Given the description of an element on the screen output the (x, y) to click on. 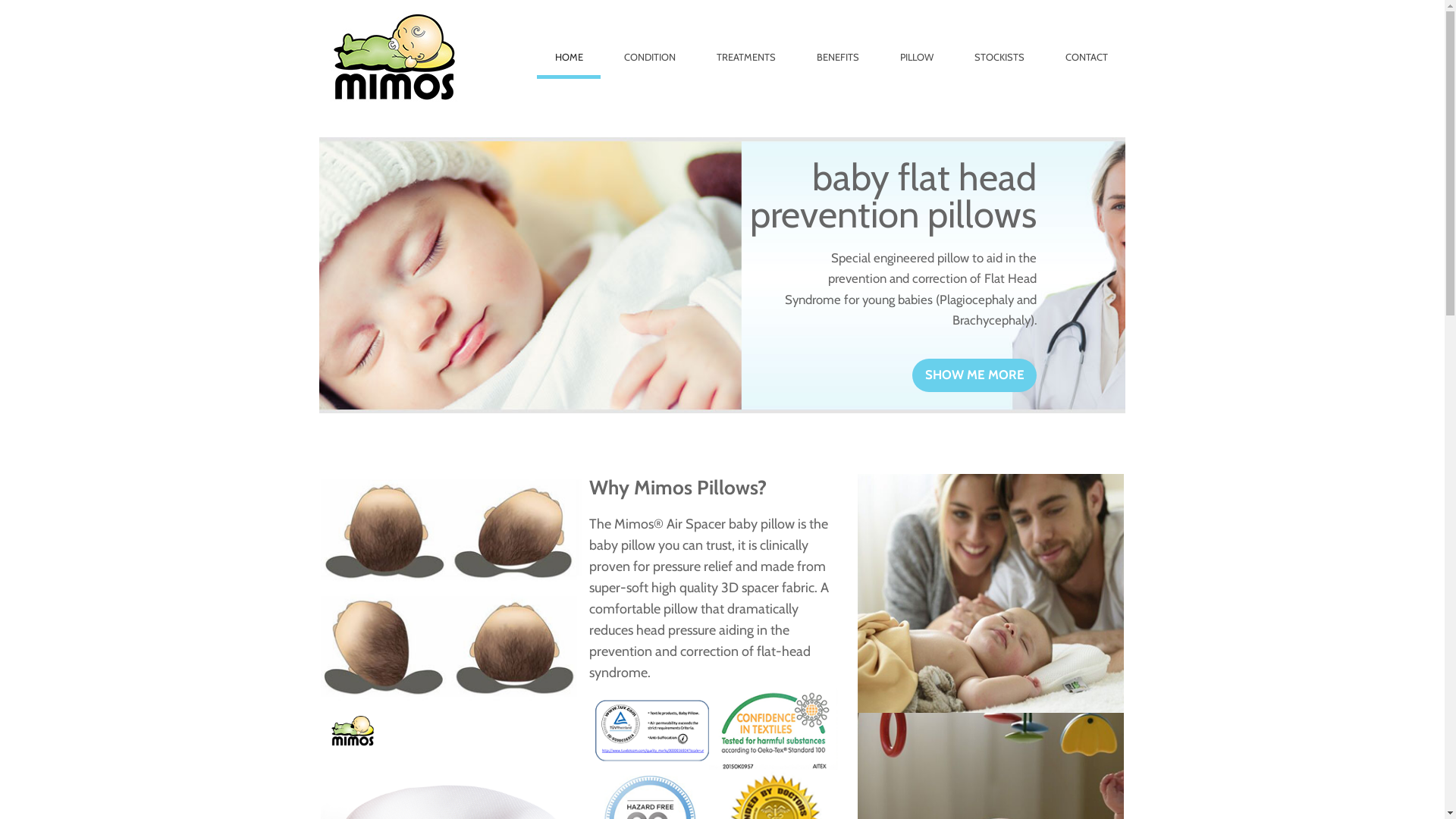
BENEFITS Element type: text (838, 39)
SHOW ME MORE Element type: text (974, 375)
TREATMENTS Element type: text (746, 39)
CONTACT Element type: text (1087, 39)
STOCKISTS Element type: text (999, 39)
CONDITION Element type: text (649, 39)
HOME Element type: text (568, 39)
PILLOW Element type: text (916, 39)
